Given the description of an element on the screen output the (x, y) to click on. 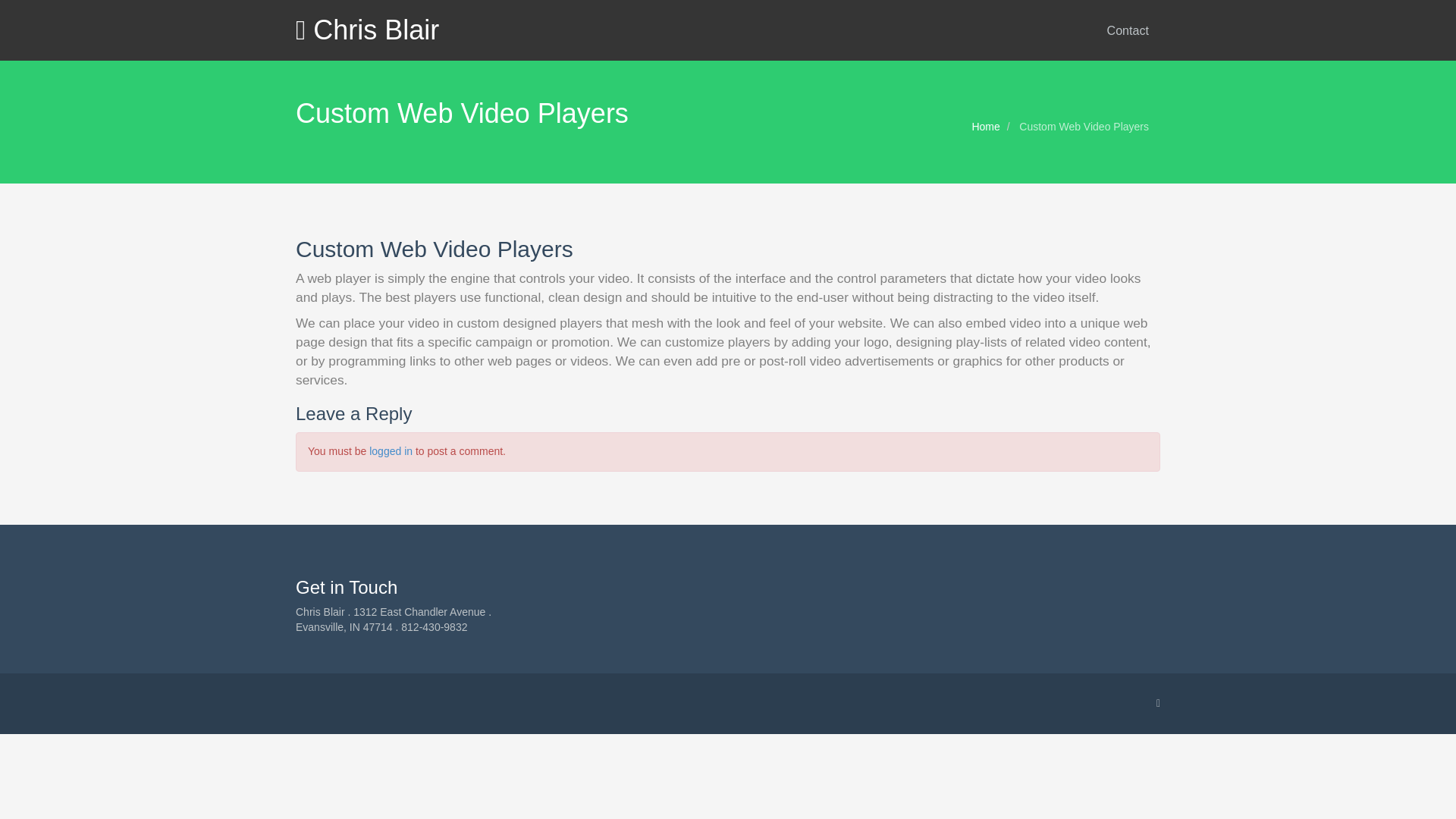
Contact (1128, 30)
Chris Blair (366, 30)
Home (984, 126)
Chris Blair (366, 30)
Contact (1128, 30)
logged in (390, 451)
